Given the description of an element on the screen output the (x, y) to click on. 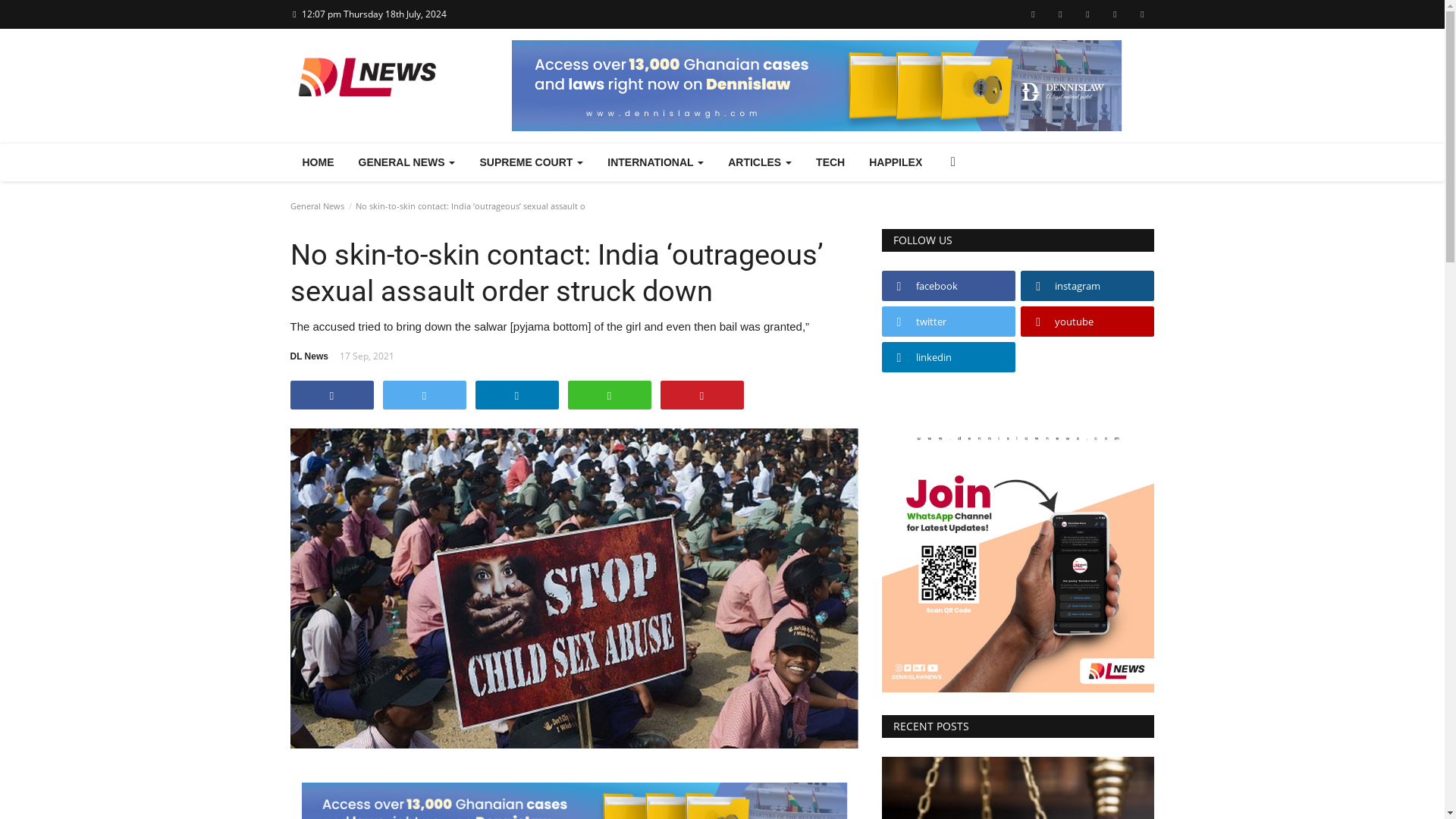
INTERNATIONAL (655, 161)
Dennislaw (574, 800)
Join our WhatsApp channel (1017, 555)
Dennislaw (817, 85)
HAPPILEX (895, 161)
TECH (830, 161)
SUPREME COURT (531, 161)
GENERAL NEWS (406, 161)
HOME (317, 161)
ARTICLES (759, 161)
